Given the description of an element on the screen output the (x, y) to click on. 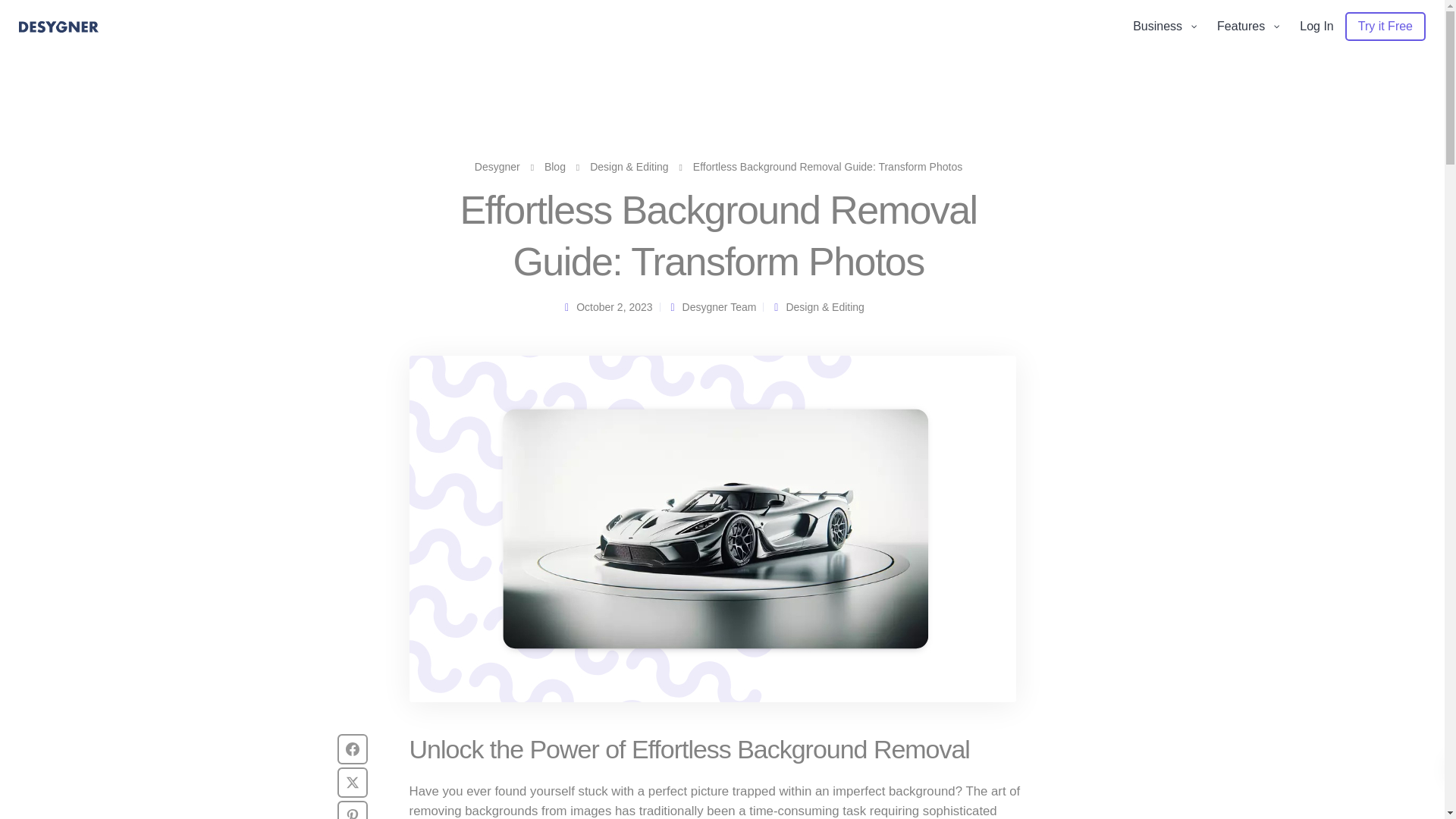
Go to Desygner. (496, 166)
Features (1246, 26)
Go to Blog. (555, 166)
Log In (1315, 26)
Share on Facebook (352, 748)
Share on Pinterest (352, 809)
Go to Effortless Background Removal Guide: Transform Photos. (827, 166)
Try it Free (1385, 26)
Effortless Background Removal Guide: Transform Photos (712, 528)
Desygner (496, 166)
